Given the description of an element on the screen output the (x, y) to click on. 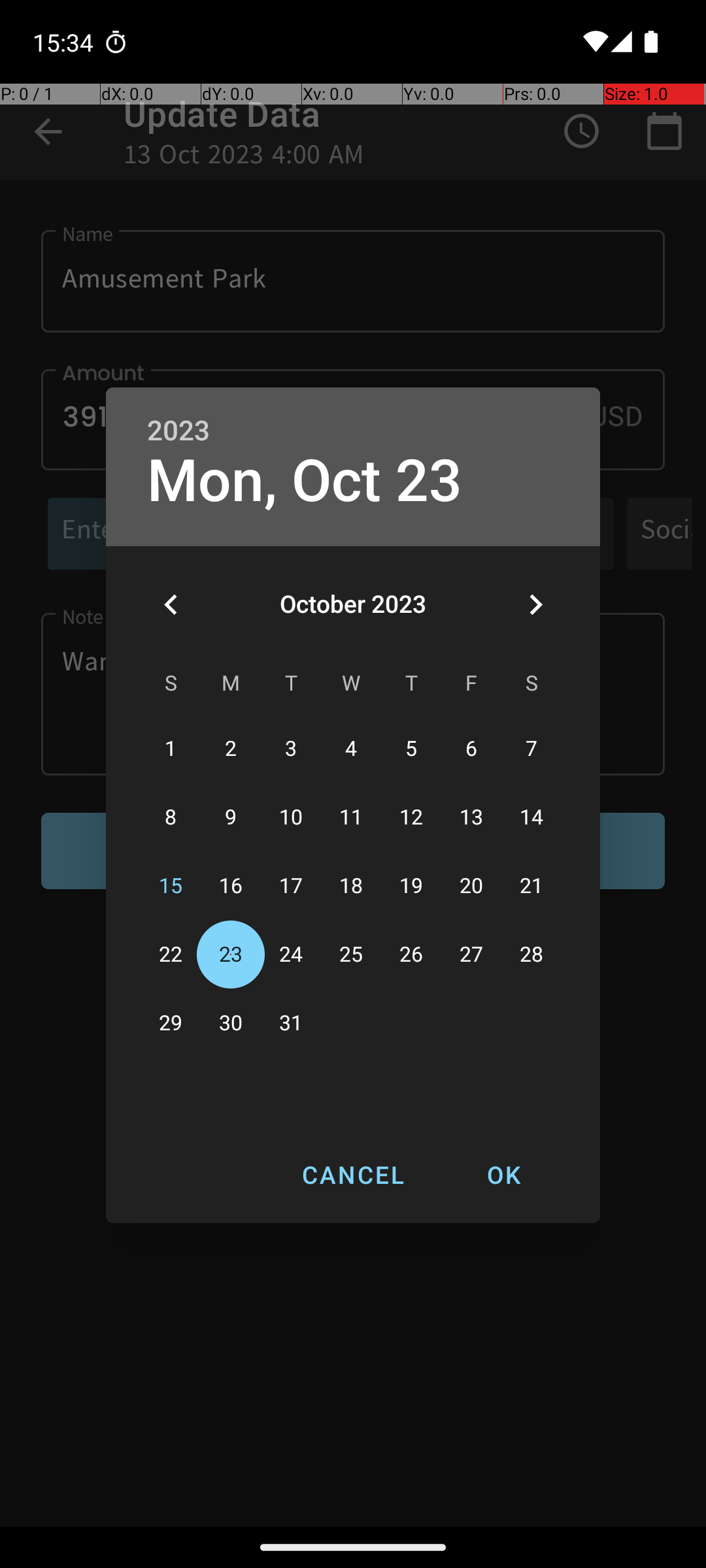
Mon, Oct 23 Element type: android.widget.TextView (304, 480)
